Given the description of an element on the screen output the (x, y) to click on. 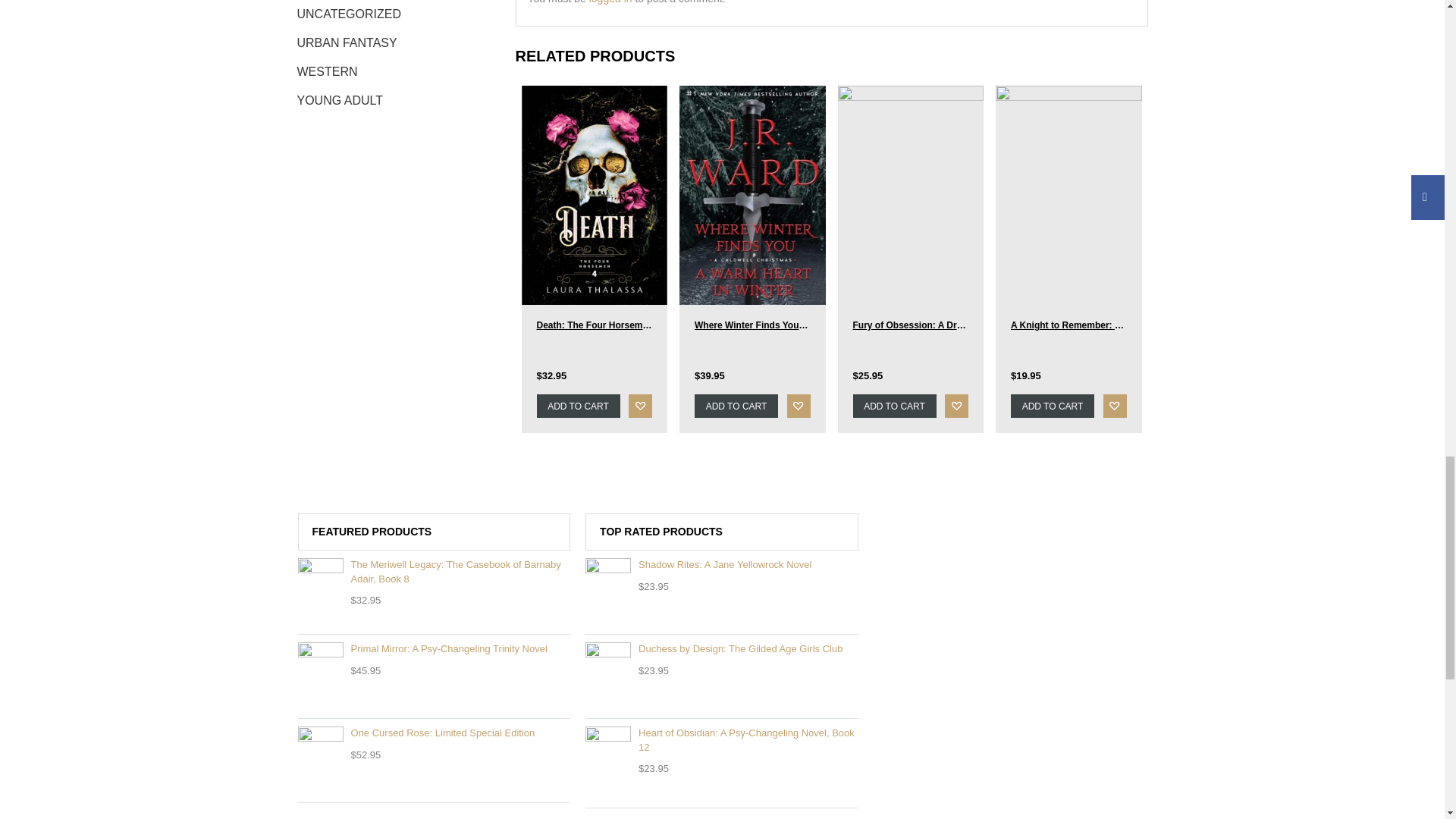
Duchess by Design: The Gilded Age Girls Club (722, 649)
One Cursed Rose: Limited Special Edition (433, 733)
Primal Mirror: A Psy-Changeling Trinity Novel (433, 649)
Heart of Obsidian: A Psy-Changeling Novel, Book 12 (722, 740)
Shadow Rites: A Jane Yellowrock Novel (722, 564)
The Meriwell Legacy: The Casebook of Barnaby Adair, Book 8 (433, 571)
